Given the description of an element on the screen output the (x, y) to click on. 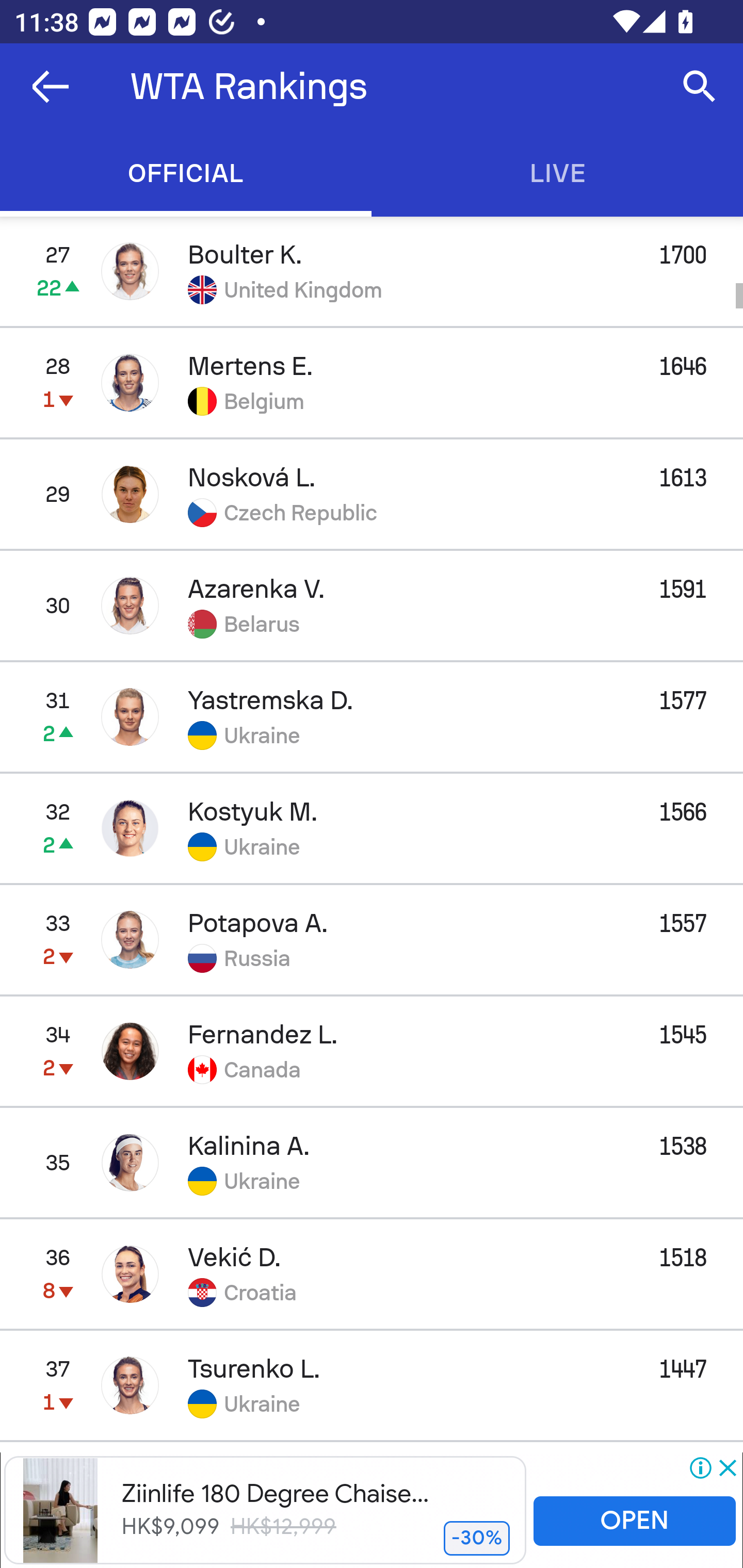
Navigate up (50, 86)
Search (699, 86)
Live LIVE (557, 173)
27 22 Boulter K. 1700 United Kingdom (371, 271)
28 1 Mertens E. 1646 Belgium (371, 382)
29 Nosková L. 1613 Czech Republic (371, 493)
30 Azarenka V. 1591 Belarus (371, 605)
31 2 Yastremska D. 1577 Ukraine (371, 716)
32 2 Kostyuk M. 1566 Ukraine (371, 827)
33 2 Potapova A. 1557 Russia (371, 939)
34 2 Fernandez L. 1545 Canada (371, 1051)
35 Kalinina A. 1538 Ukraine (371, 1162)
36 8 Vekić D. 1518 Croatia (371, 1273)
37 1 Tsurenko L. 1447 Ukraine (371, 1385)
Ziinlife 180 Degree Chaise… (274, 1493)
OPEN (634, 1521)
HK$9,099 (169, 1526)
HK$12,999 (283, 1526)
